Given the description of an element on the screen output the (x, y) to click on. 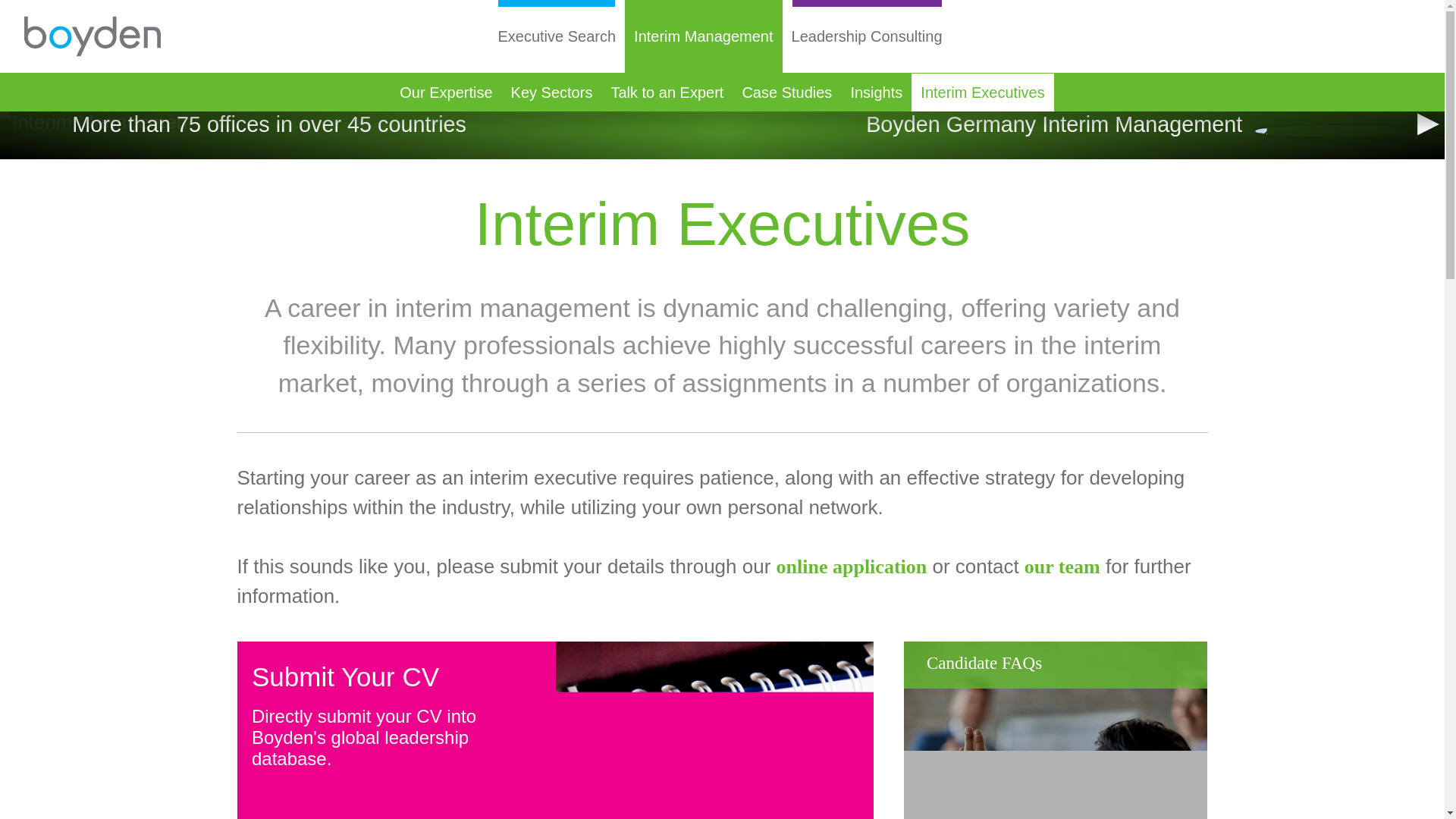
Interim Management (702, 36)
Our Expertise (445, 92)
Case Studies (786, 92)
Talk to an Expert (666, 92)
Leadership Consulting (867, 36)
Executive Search (555, 36)
Insights (876, 92)
to (1062, 567)
Boyden Executive Search (92, 36)
Key Sectors (552, 92)
